Given the description of an element on the screen output the (x, y) to click on. 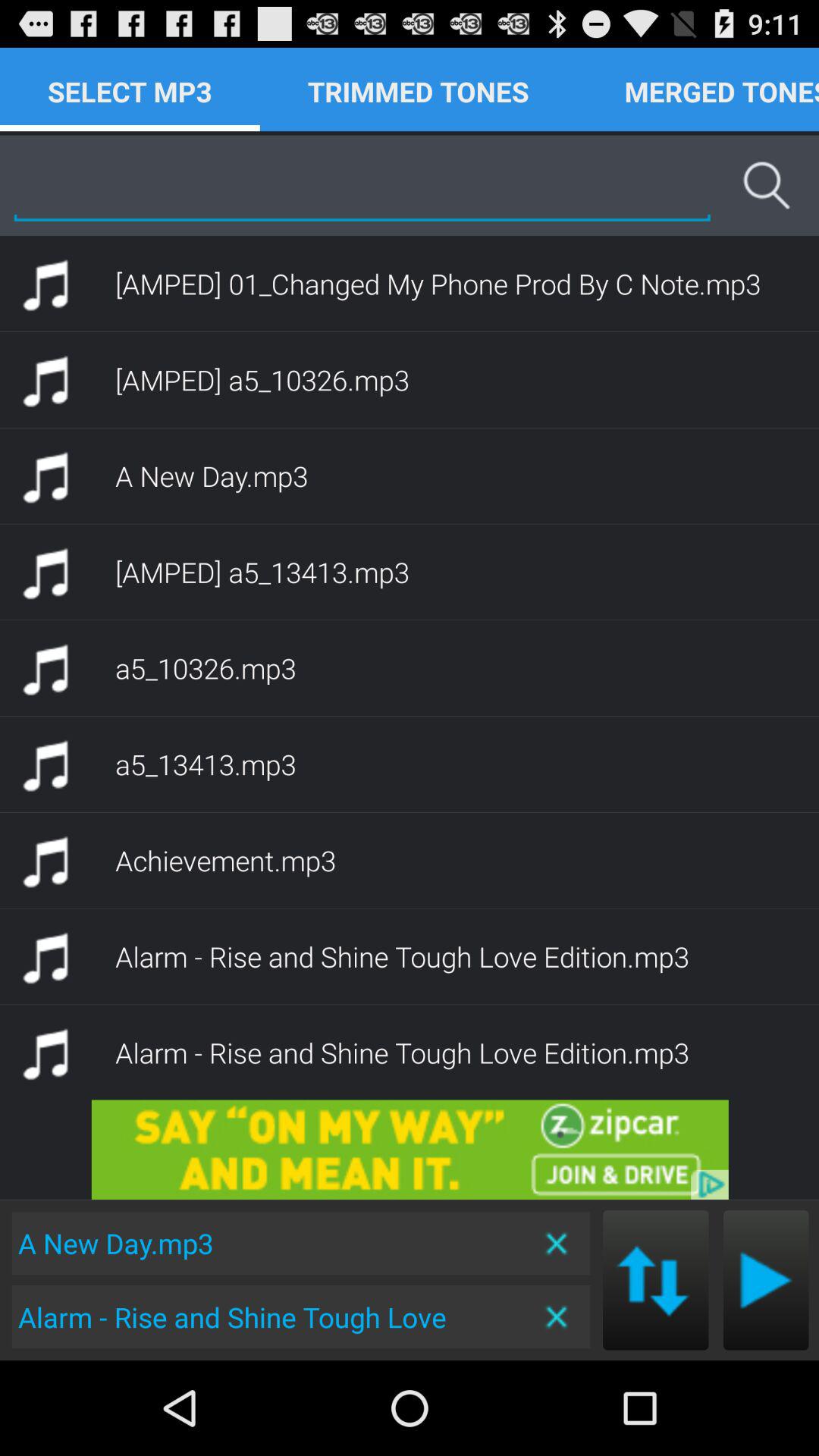
cancel option (557, 1316)
